Given the description of an element on the screen output the (x, y) to click on. 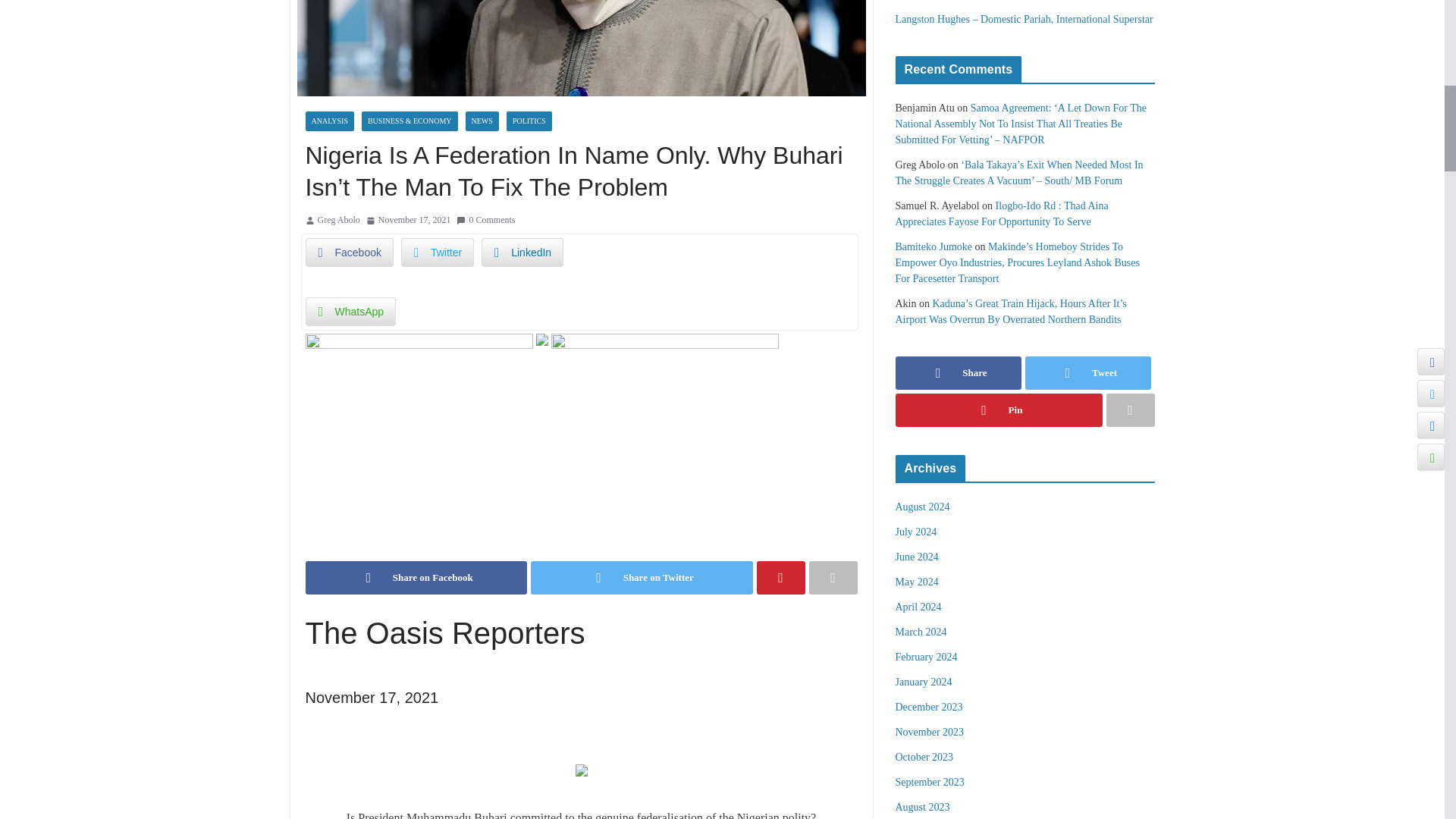
LinkedIn (522, 252)
ANALYSIS (328, 121)
NEWS (482, 121)
Share on Twitter (641, 577)
Greg Abolo (338, 220)
WhatsApp (350, 311)
Facebook (348, 252)
0 Comments (486, 220)
JHU-4 (663, 343)
4:21 am (408, 220)
